Given the description of an element on the screen output the (x, y) to click on. 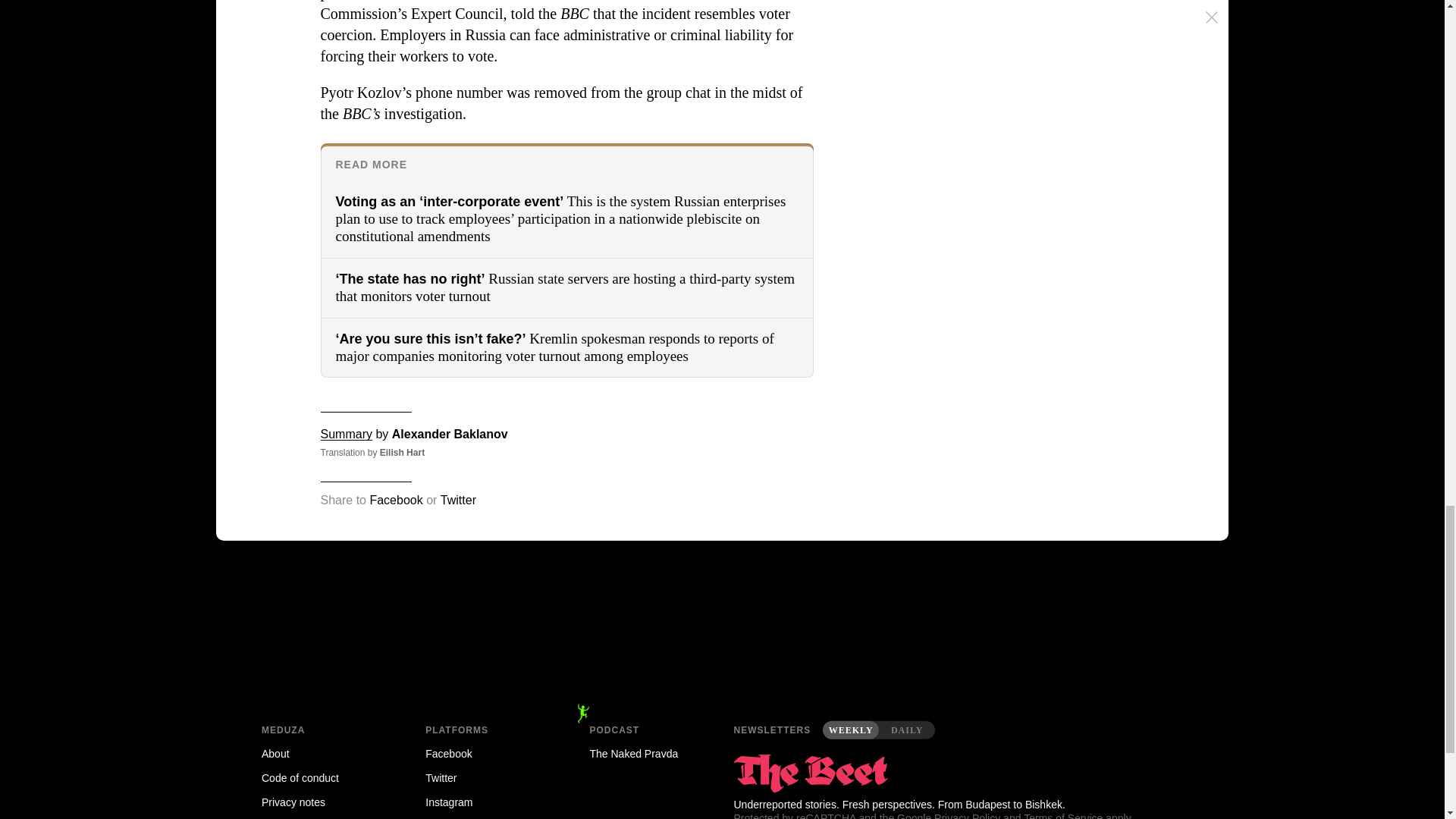
Privacy notes (322, 802)
Code of conduct (322, 777)
Twitter (458, 499)
Cookies (322, 816)
Summary (345, 433)
RSS (486, 816)
Instagram (486, 802)
Terms of Service (1062, 815)
The Naked Pravda (650, 753)
Facebook (395, 499)
